Given the description of an element on the screen output the (x, y) to click on. 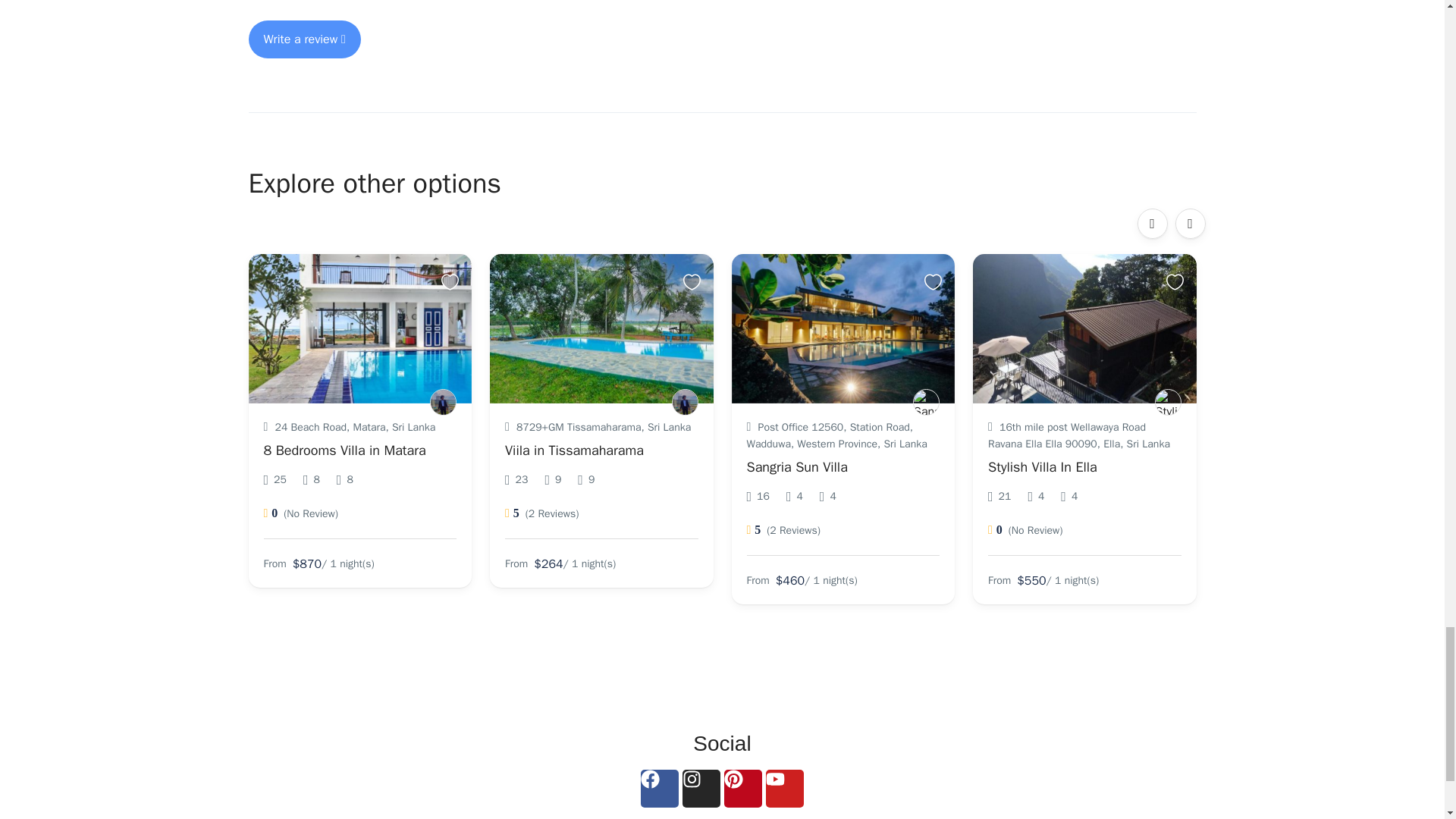
Chathurarya (684, 402)
Add to wishlist (452, 282)
Dimuthu Nuwan De Zoysa (925, 402)
Chathurarya (443, 402)
Add to wishlist (693, 282)
Add to wishlist (935, 282)
